Given the description of an element on the screen output the (x, y) to click on. 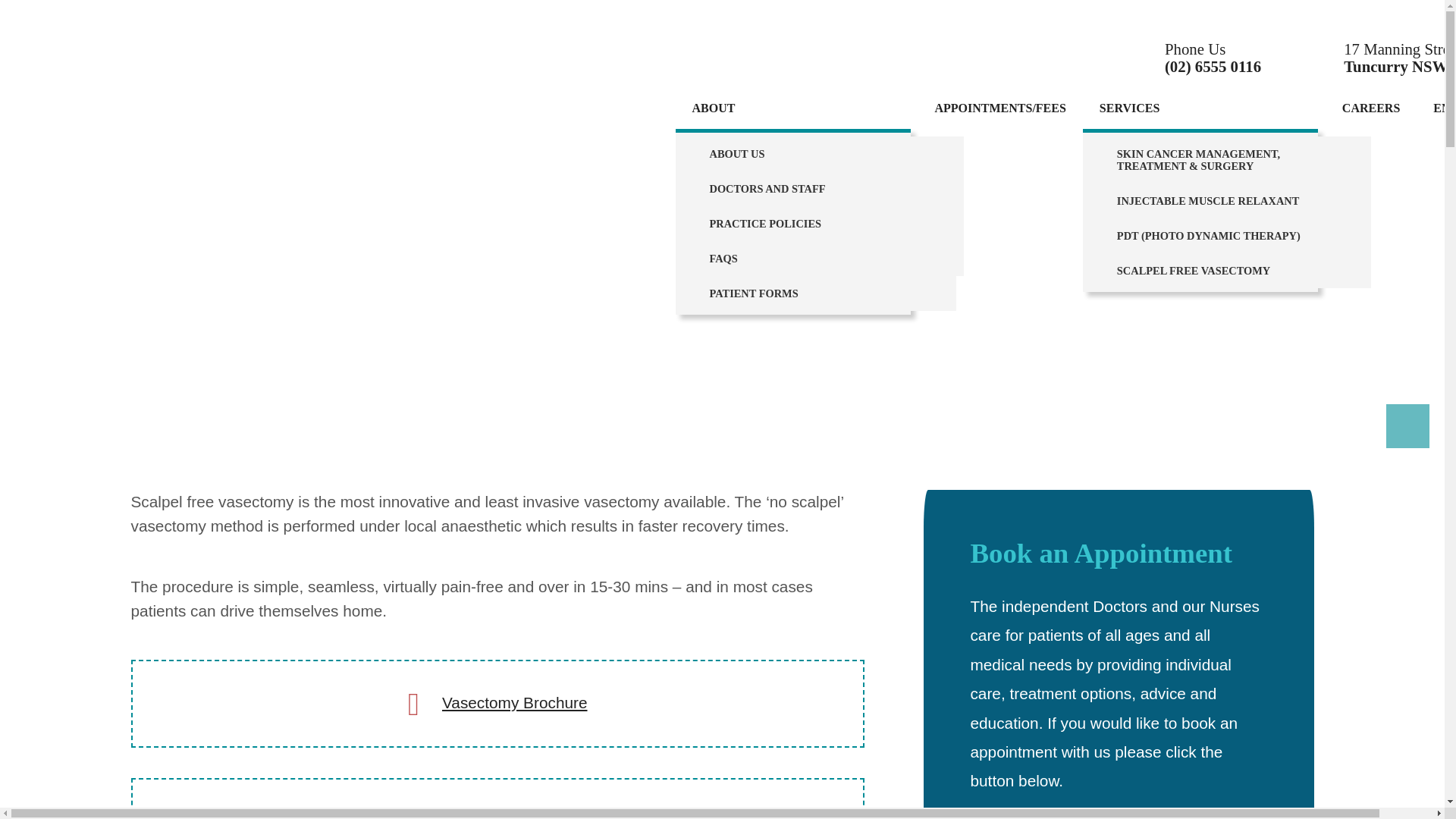
SERVICES (1128, 108)
DOCTORS AND STAFF (818, 188)
CAREERS (1370, 108)
Skip to content (52, 11)
SCALPEL FREE VASECTOMY (1227, 270)
PRACTICE POLICIES (818, 223)
PATIENT FORMS (815, 293)
ABOUT (713, 108)
Vasectomy Brochure (515, 702)
ABOUT US (818, 153)
